Given the description of an element on the screen output the (x, y) to click on. 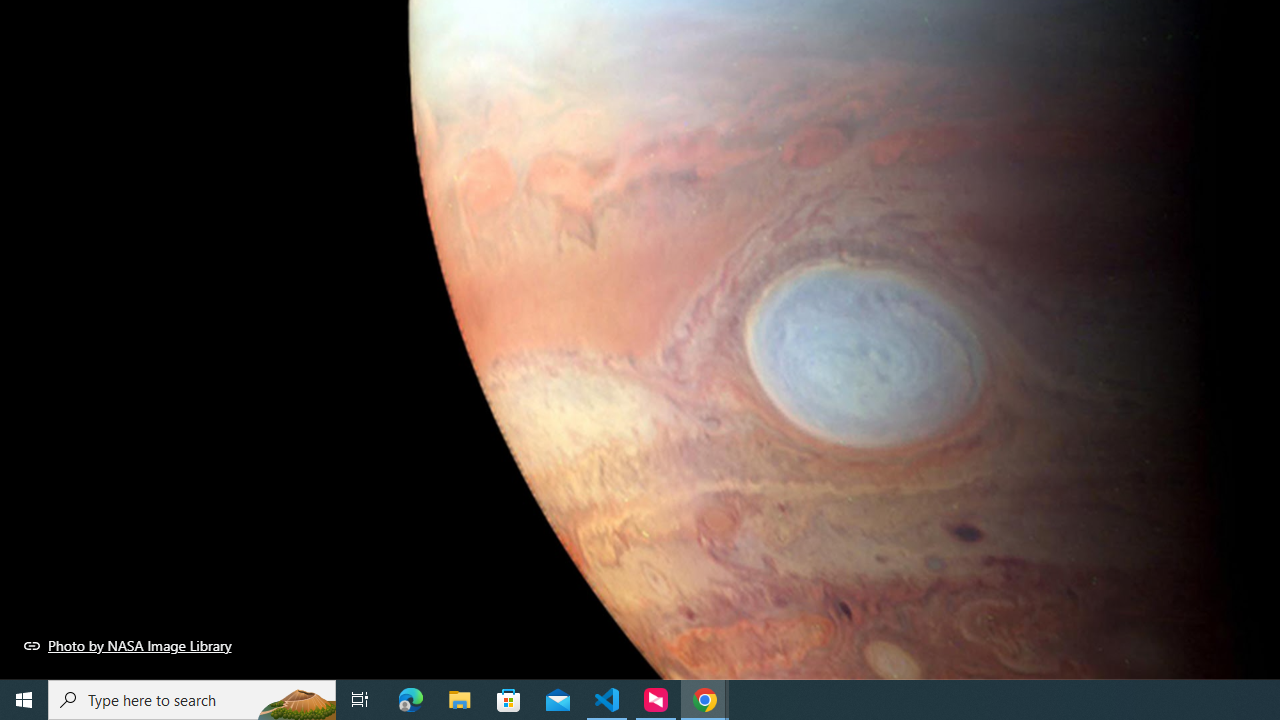
Photo by NASA Image Library (127, 645)
